Given the description of an element on the screen output the (x, y) to click on. 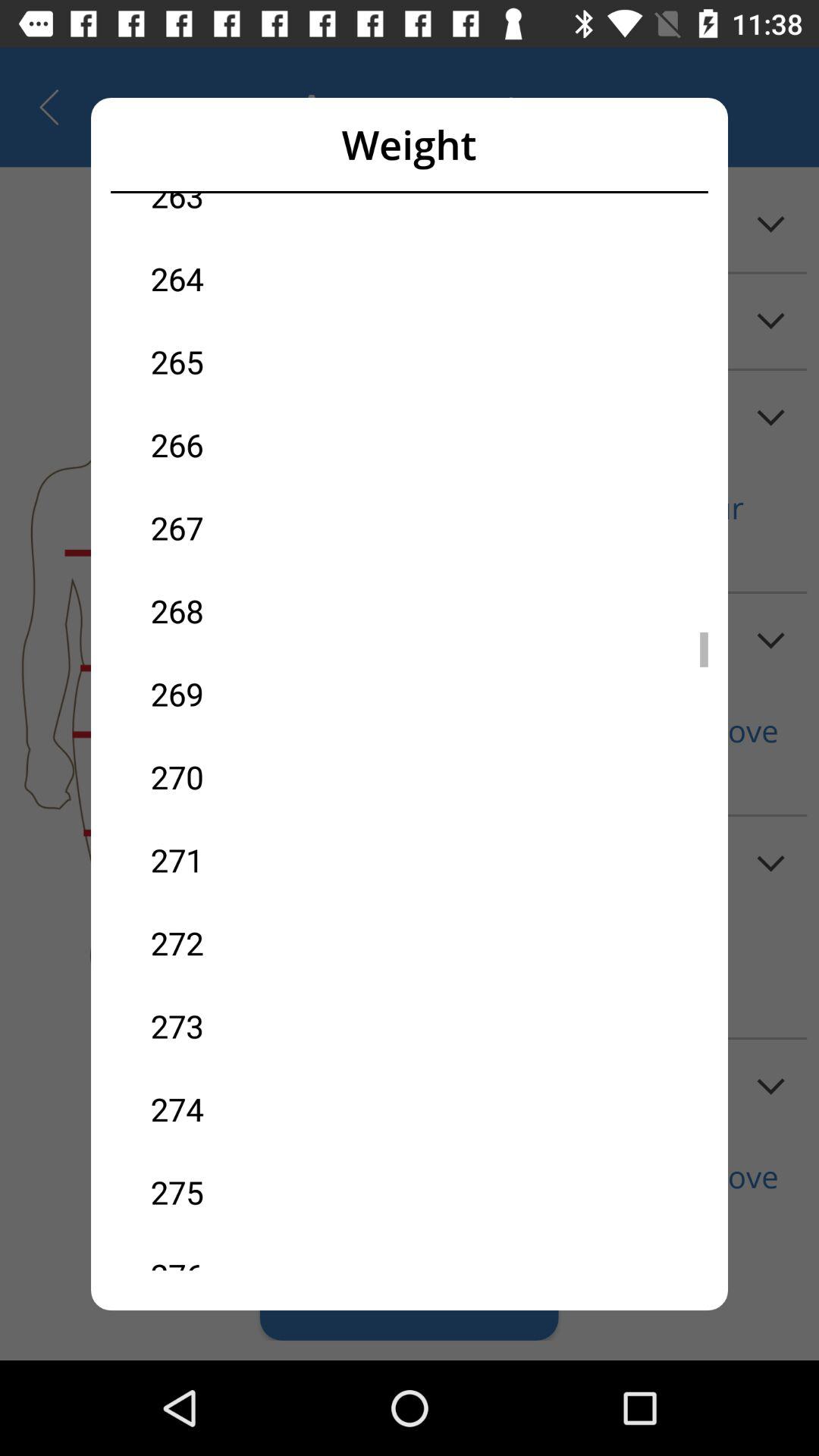
turn on 273 (279, 1025)
